Given the description of an element on the screen output the (x, y) to click on. 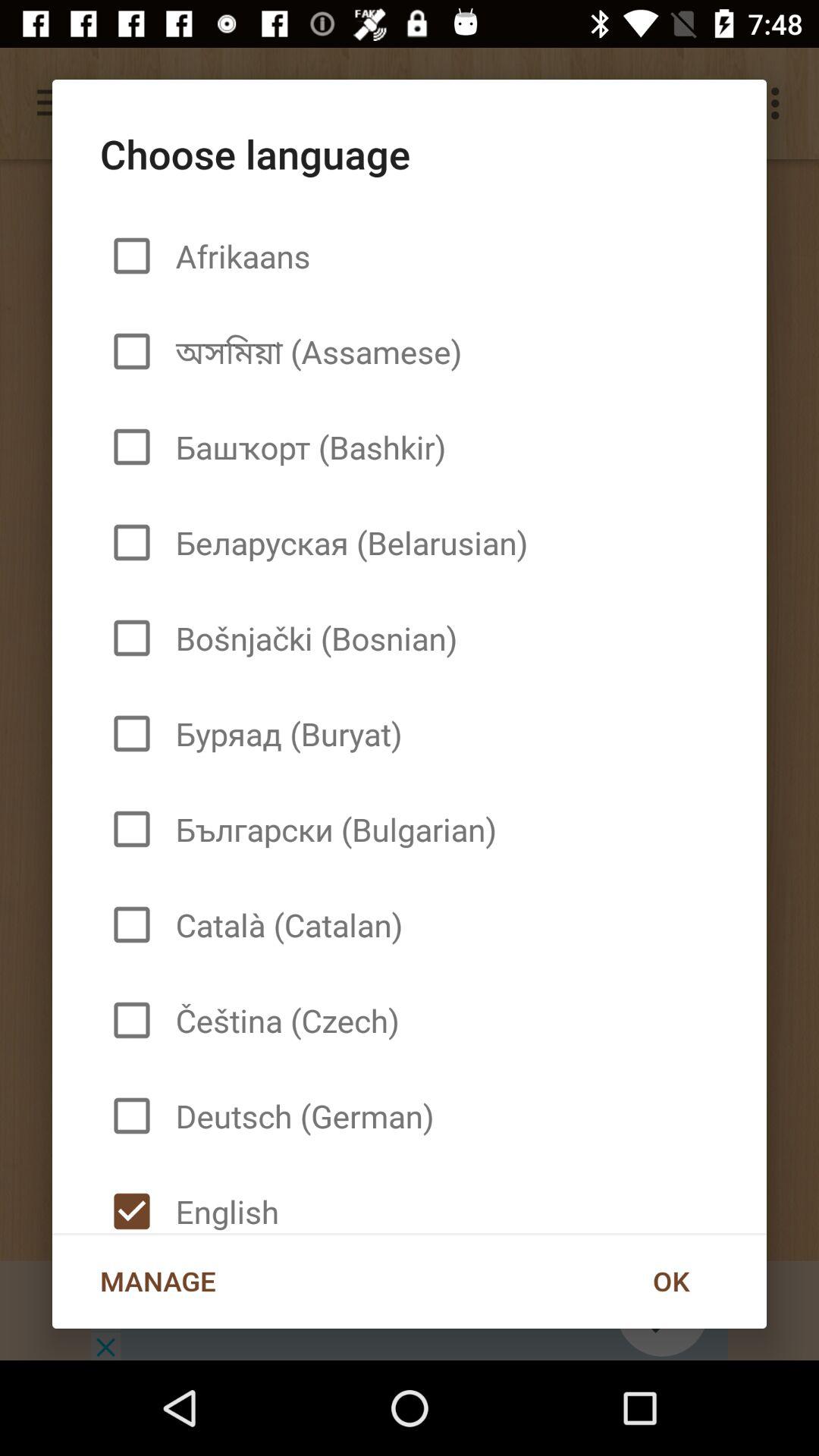
flip to manage (158, 1280)
